Given the description of an element on the screen output the (x, y) to click on. 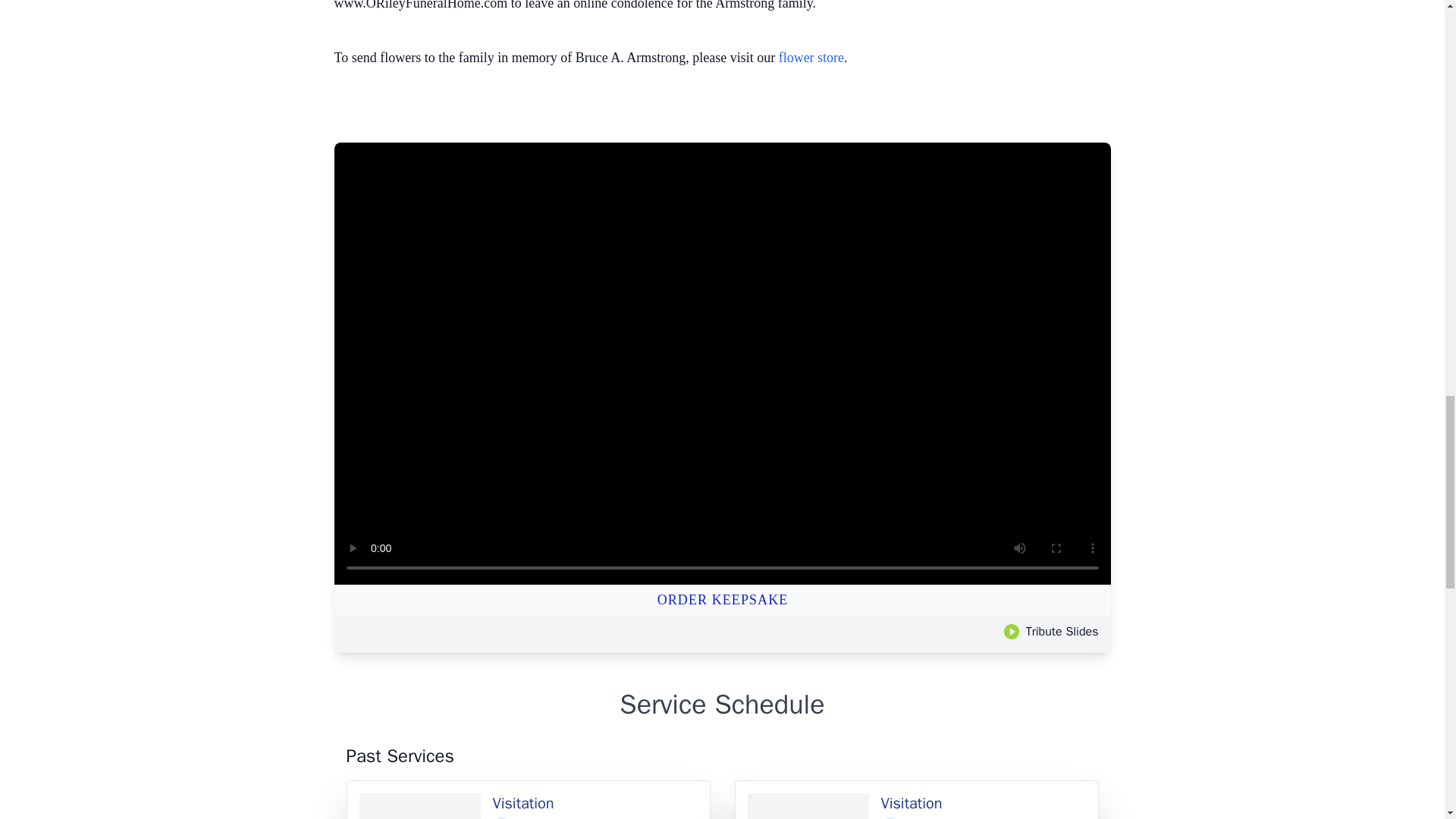
flower store (811, 57)
